Given the description of an element on the screen output the (x, y) to click on. 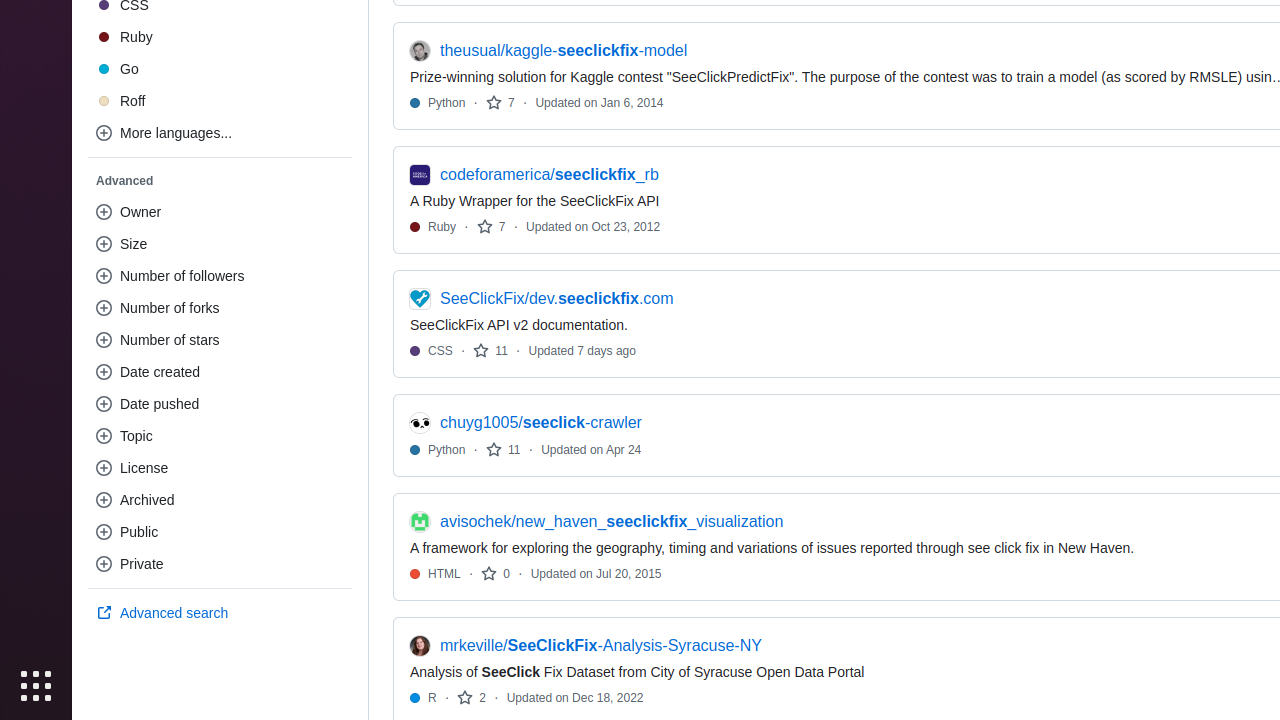
‎Owner‎ Element type: push-button (220, 211)
theusual/kaggle-seeclickfix-model Element type: link (564, 50)
11 stars Element type: link (490, 350)
‎Roff‎ Element type: link (220, 101)
SeeClickFix/dev.seeclickfix.com Element type: link (557, 299)
